Given the description of an element on the screen output the (x, y) to click on. 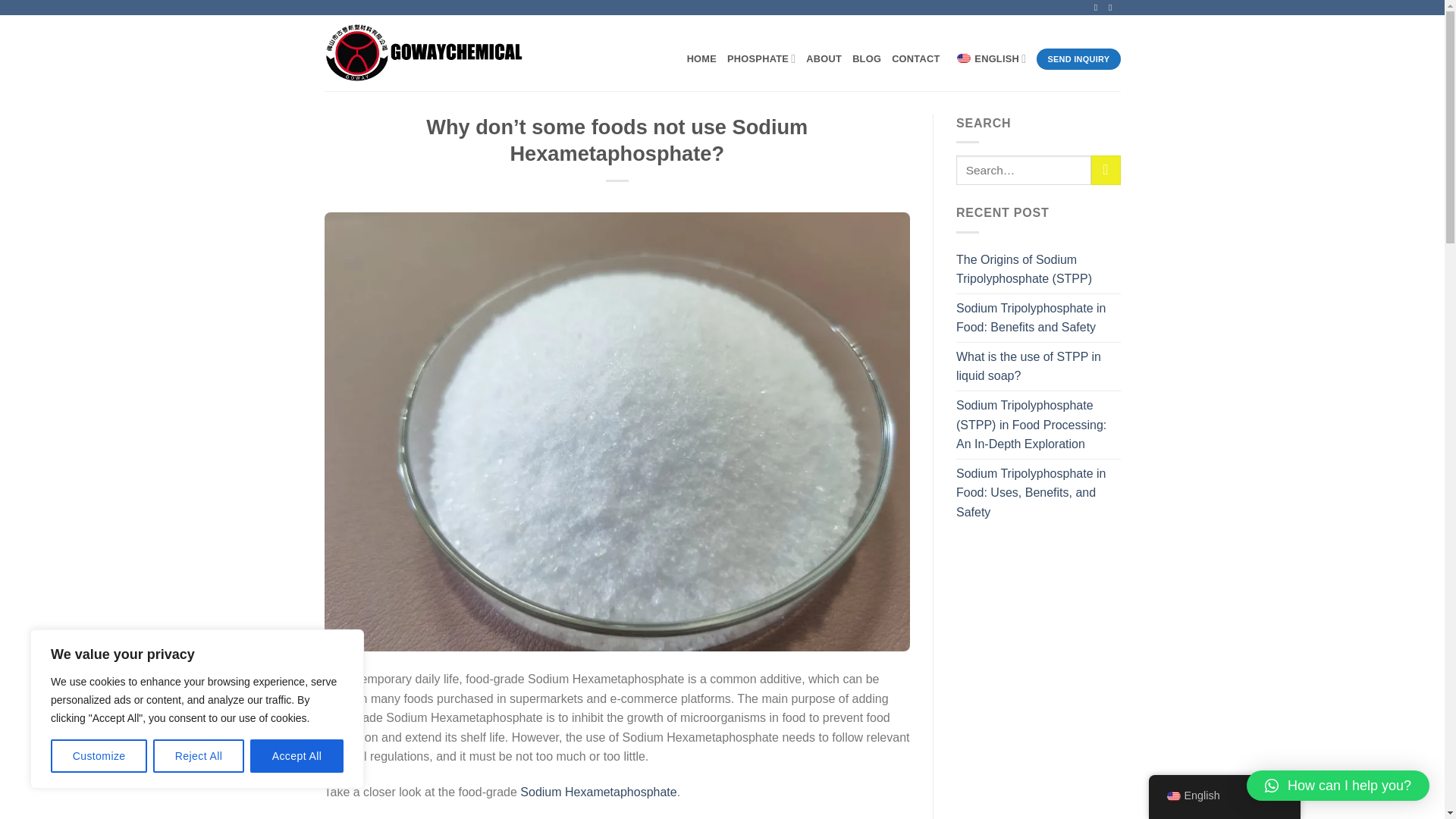
Reject All (198, 756)
gowaychemical (430, 52)
Customize (98, 756)
Accept All (296, 756)
English (963, 58)
